Given the description of an element on the screen output the (x, y) to click on. 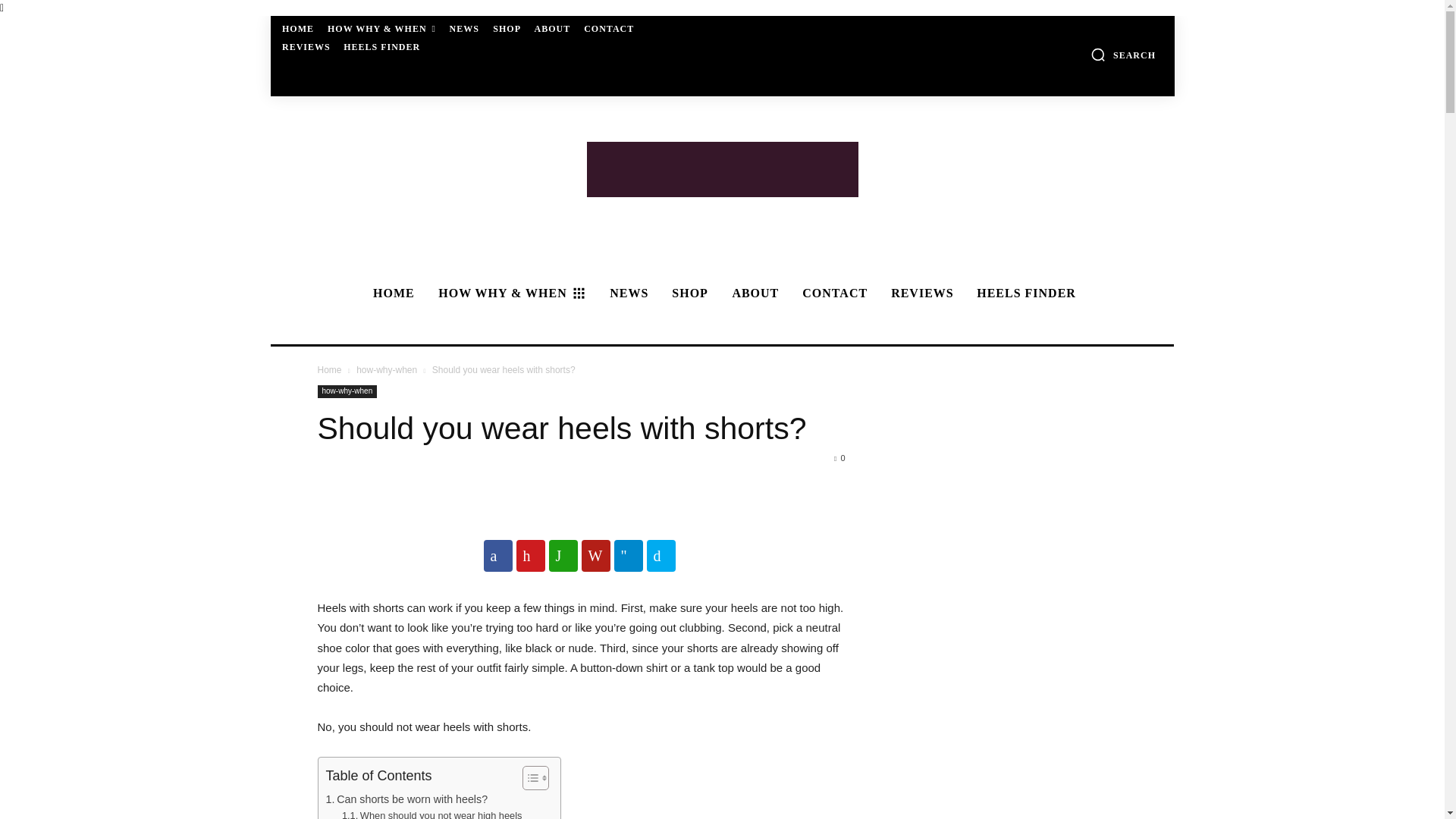
Share on Flipboard (595, 555)
REVIEWS (306, 46)
Share on Telegram (628, 555)
SHOP (506, 28)
SEARCH (1123, 54)
Share on Facebook (497, 555)
Share on Pinterest (529, 555)
CONTACT (609, 28)
View all posts in how-why-when (386, 369)
NEWS (463, 28)
ABOUT (552, 28)
HOME (391, 293)
HOME (298, 28)
HEELS FINDER (382, 46)
Share on WhatsApp (563, 555)
